Given the description of an element on the screen output the (x, y) to click on. 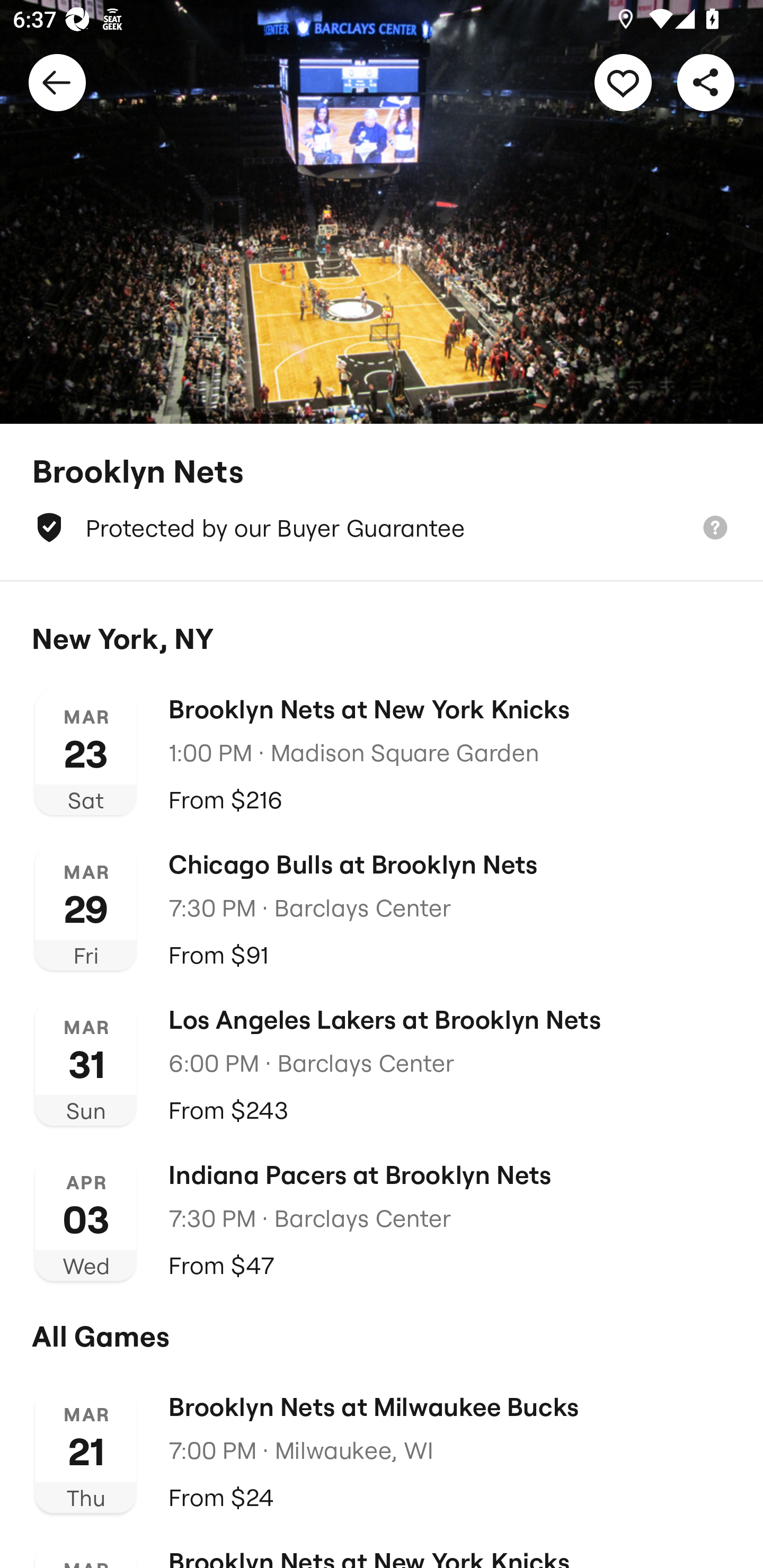
Back (57, 81)
Track this performer (623, 81)
Share this performer (705, 81)
Protected by our Buyer Guarantee Learn more (381, 527)
